Given the description of an element on the screen output the (x, y) to click on. 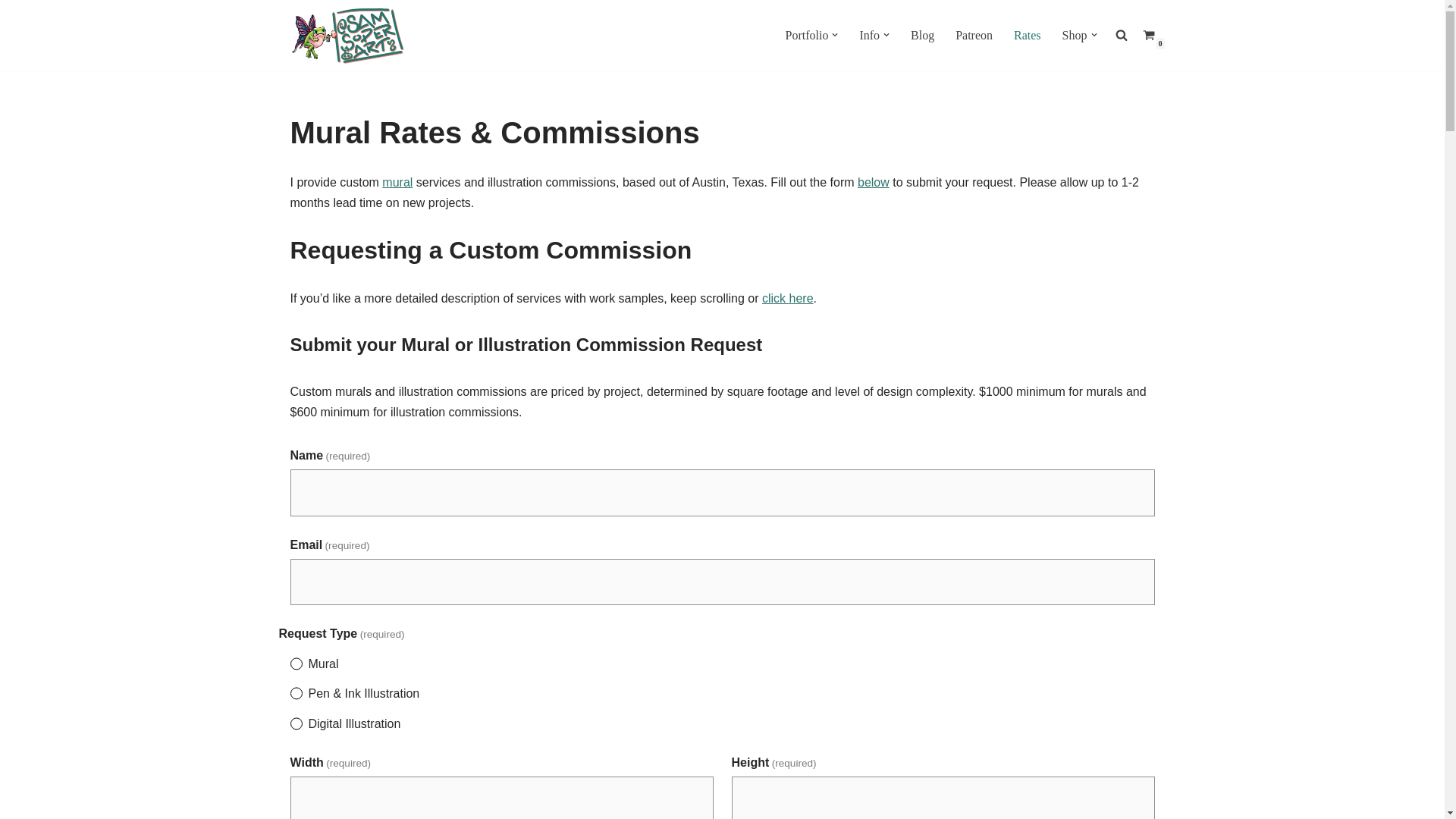
Shop (1074, 35)
Digital Illustration (295, 723)
0 (1147, 34)
Rates (1027, 35)
Patreon (973, 35)
Skip to content (11, 31)
Info (869, 35)
Mural (295, 664)
Blog (922, 35)
Portfolio (807, 35)
